Given the description of an element on the screen output the (x, y) to click on. 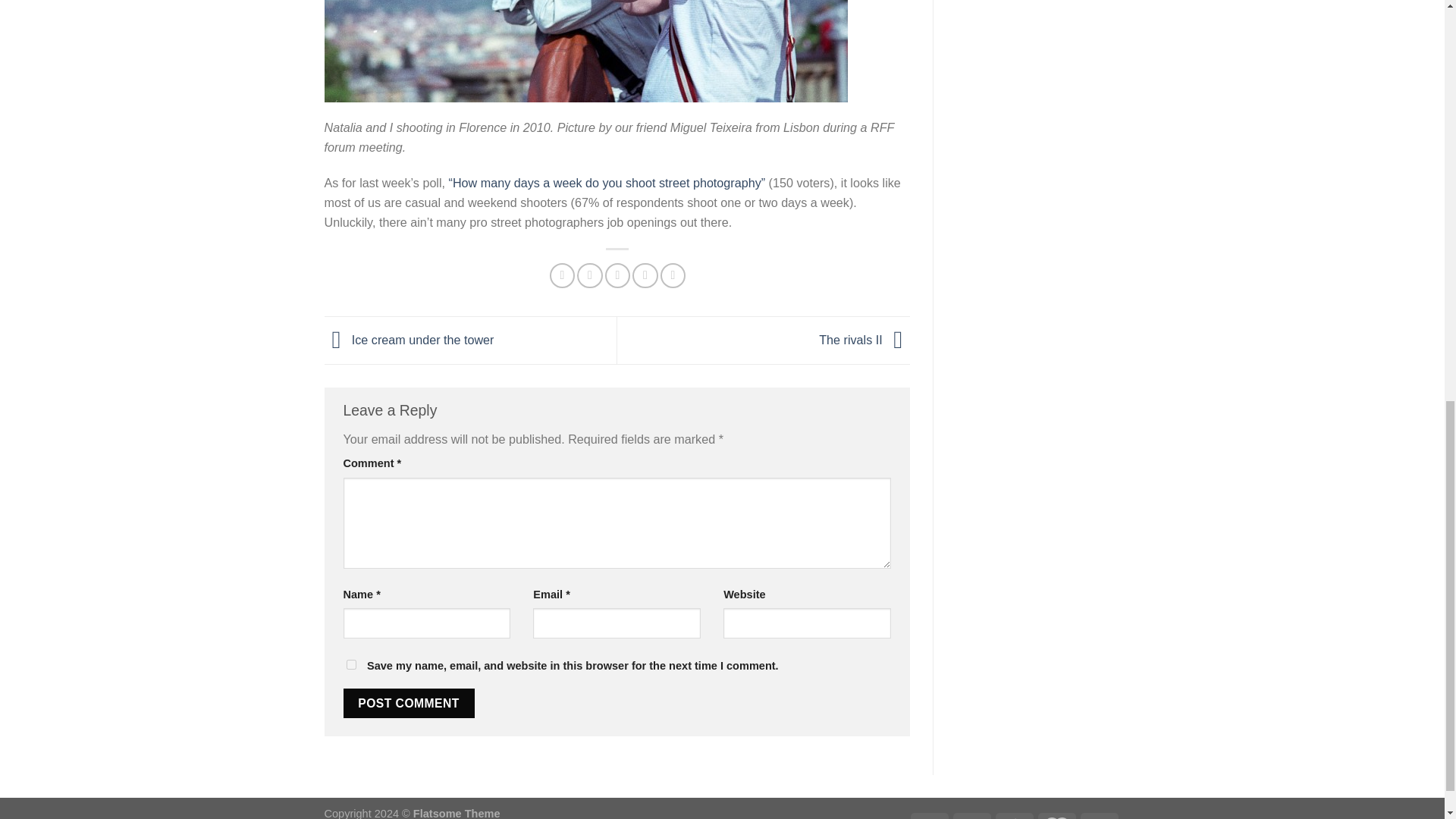
Ice cream under the tower (409, 338)
Post Comment (408, 703)
yes (350, 664)
Email to a Friend (617, 275)
Share on LinkedIn (673, 275)
Post Comment (408, 703)
Share on Facebook (562, 275)
Pin on Pinterest (644, 275)
The rivals II (864, 338)
Share on Twitter (589, 275)
